Given the description of an element on the screen output the (x, y) to click on. 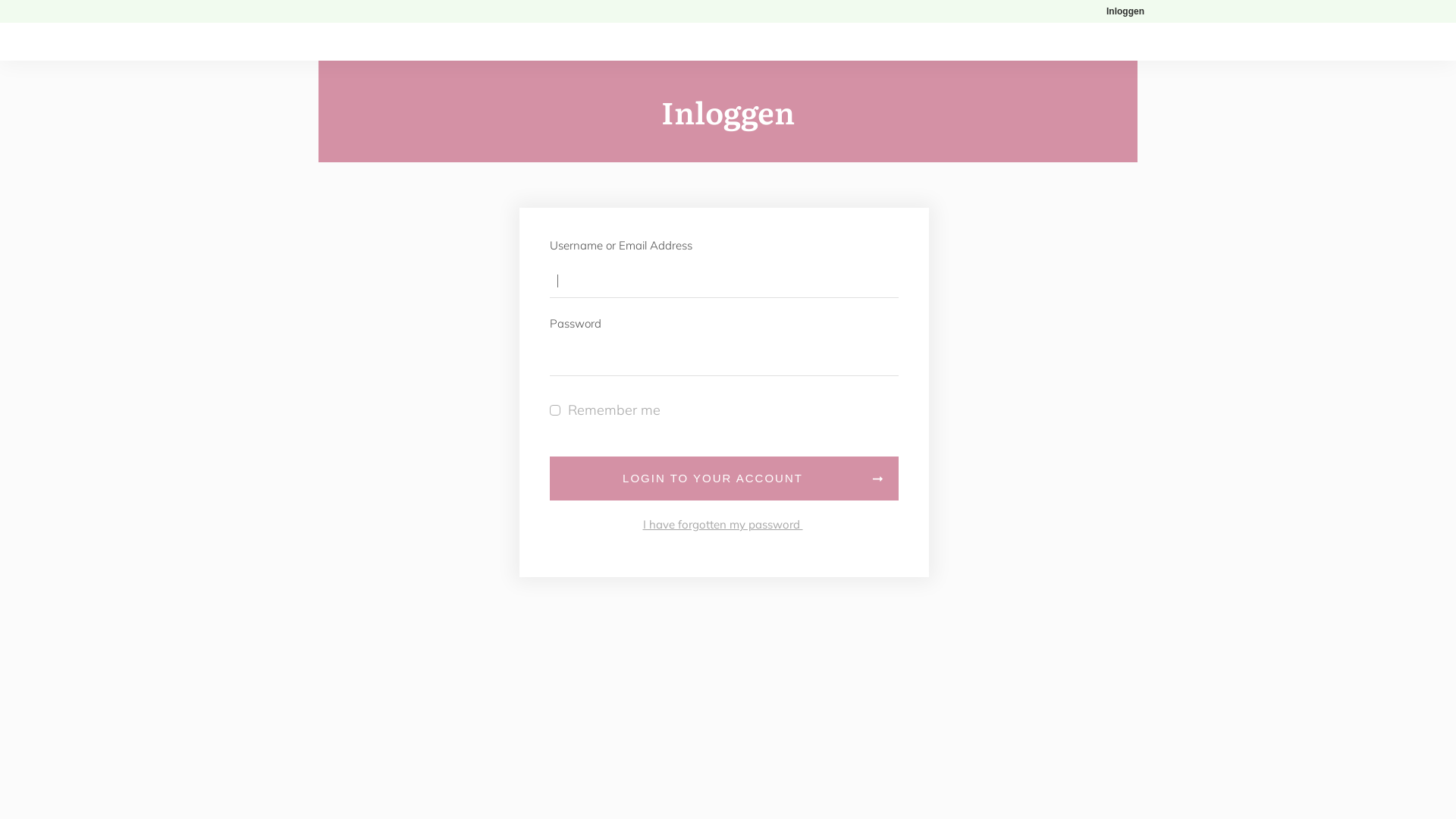
LOGIN TO YOUR ACCOUNT Element type: text (723, 478)
Inloggen Element type: text (1125, 11)
I have forgotten my password Element type: text (723, 524)
